Given the description of an element on the screen output the (x, y) to click on. 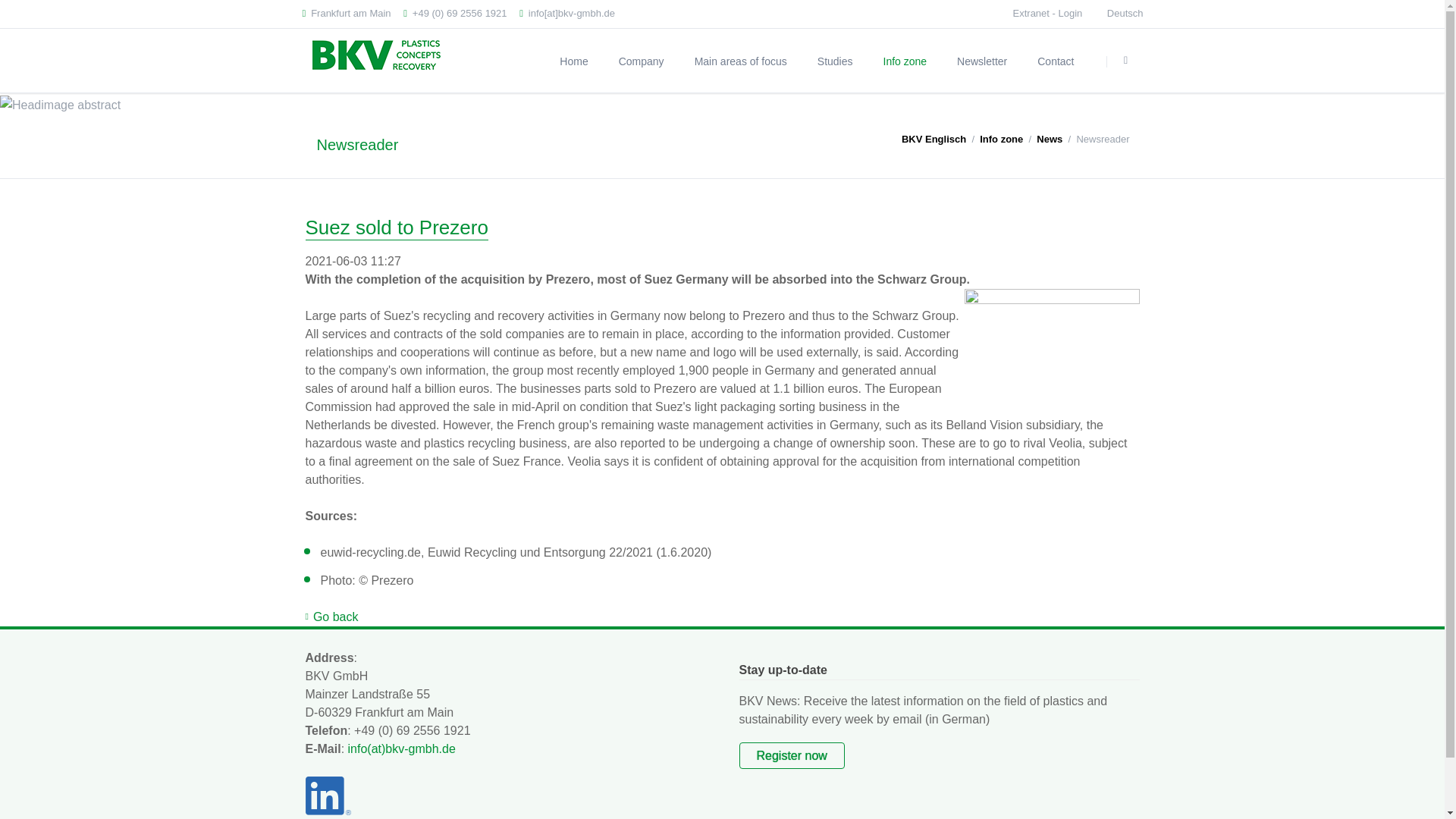
Extranet - Login (1048, 12)
Deutsch (1124, 13)
Frankfurt am Main (345, 13)
